Given the description of an element on the screen output the (x, y) to click on. 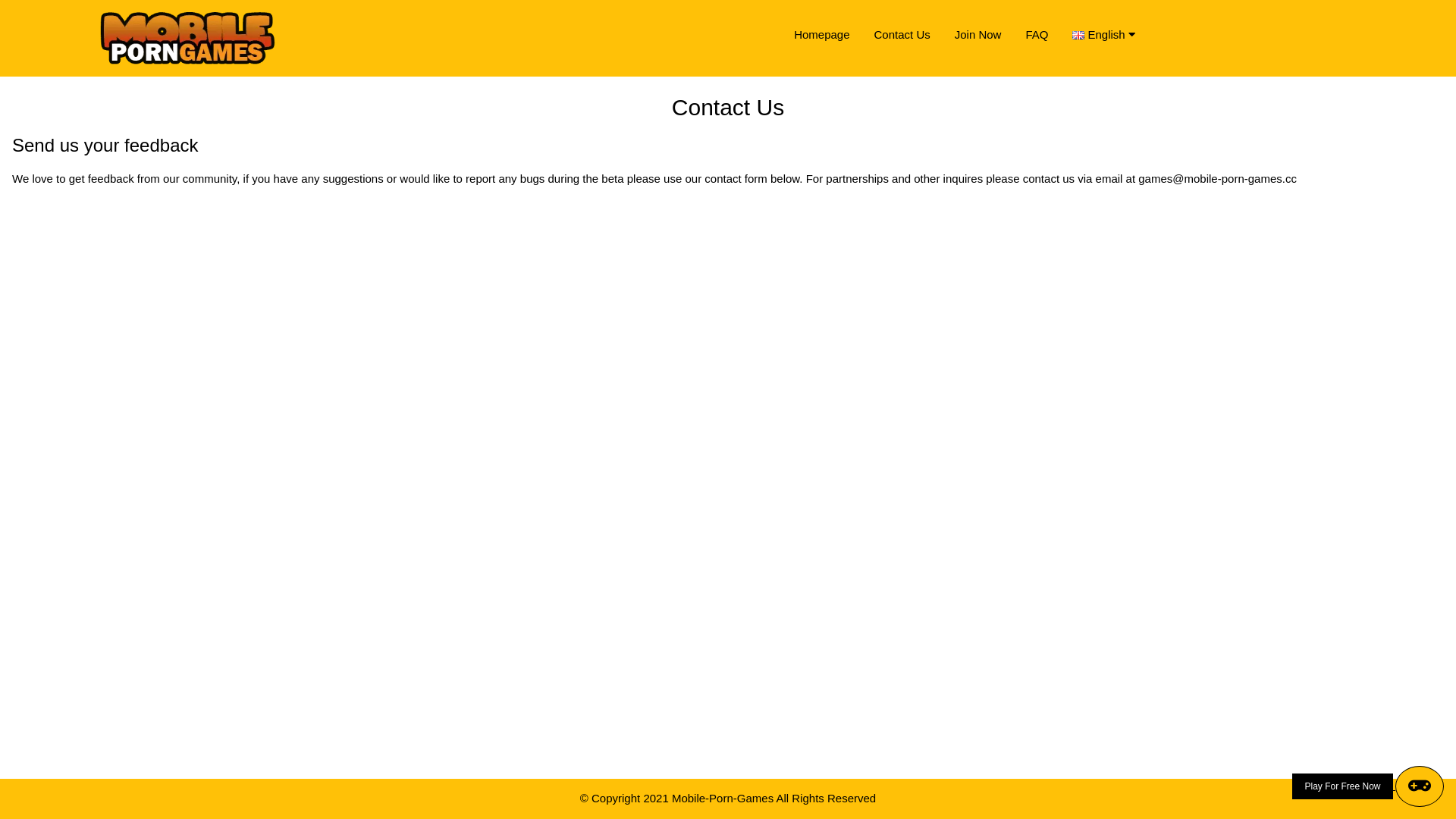
FAQ Element type: text (1036, 35)
Homepage Element type: text (821, 35)
English Element type: text (1109, 35)
Join Now Element type: text (977, 35)
Contact Us Element type: text (902, 35)
Play For Free Now Element type: text (1367, 785)
